Given the description of an element on the screen output the (x, y) to click on. 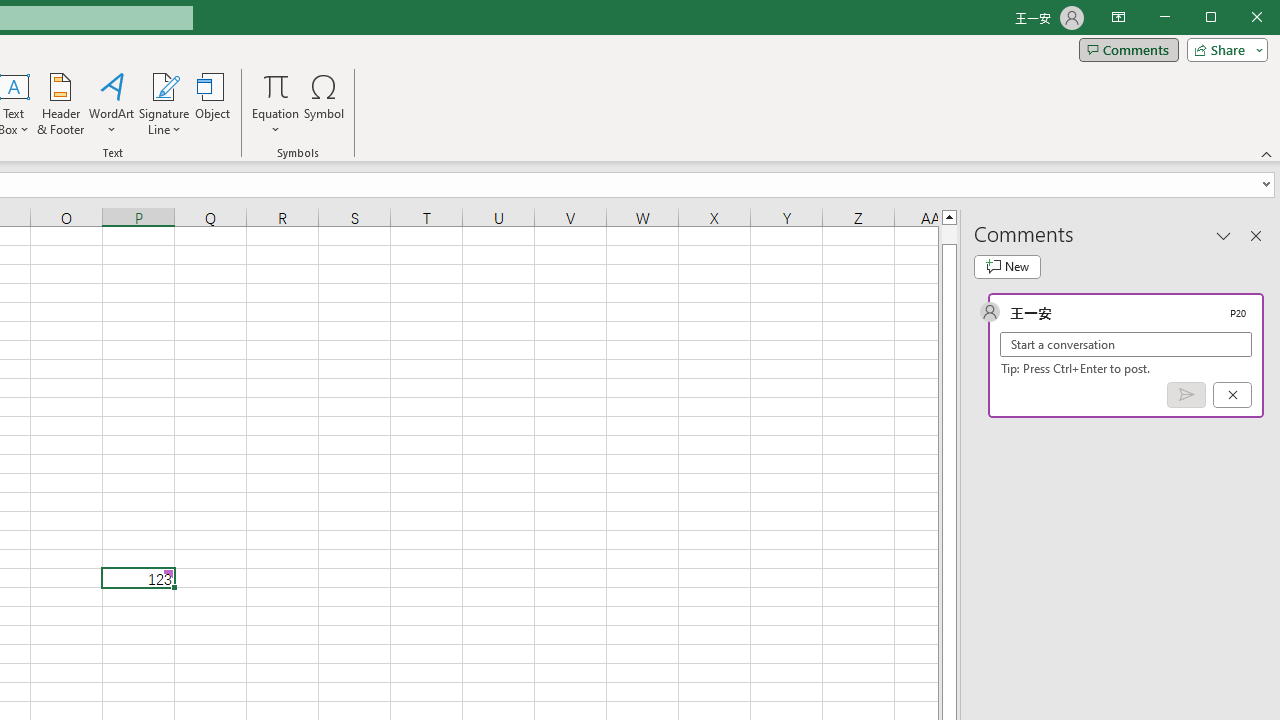
Equation (275, 86)
Post comment (Ctrl + Enter) (1186, 395)
Cancel (1232, 395)
New comment (1007, 266)
Object... (213, 104)
Start a conversation (1126, 344)
Header & Footer... (60, 104)
Signature Line (164, 86)
